Given the description of an element on the screen output the (x, y) to click on. 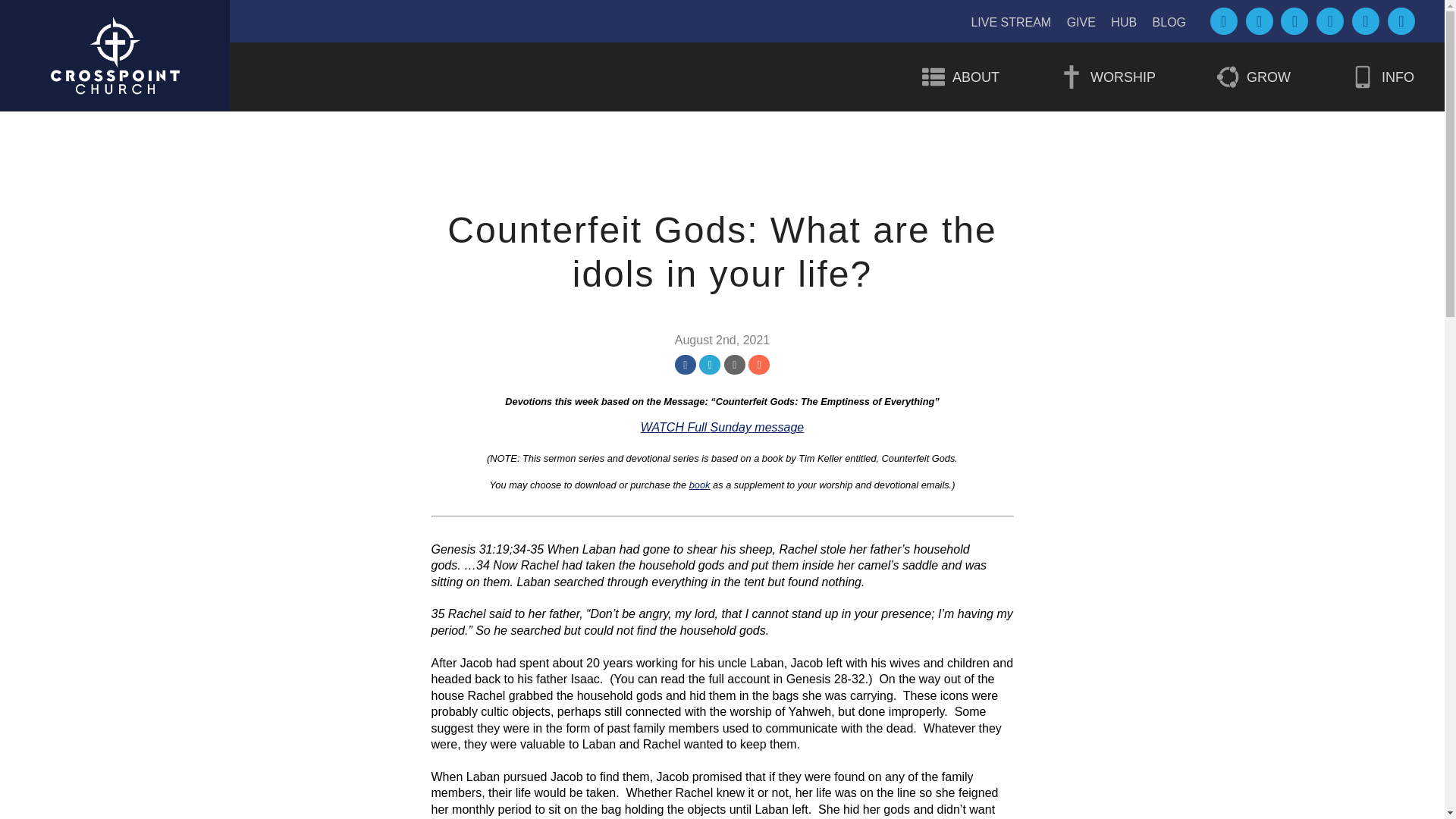
GIVE (1081, 21)
WATCH Full Sunday message (722, 427)
ABOUT (960, 76)
WORSHIP (1107, 76)
GROW (1253, 76)
BLOG (1169, 21)
LIVE STREAM (1011, 21)
HUB (1123, 21)
